Given the description of an element on the screen output the (x, y) to click on. 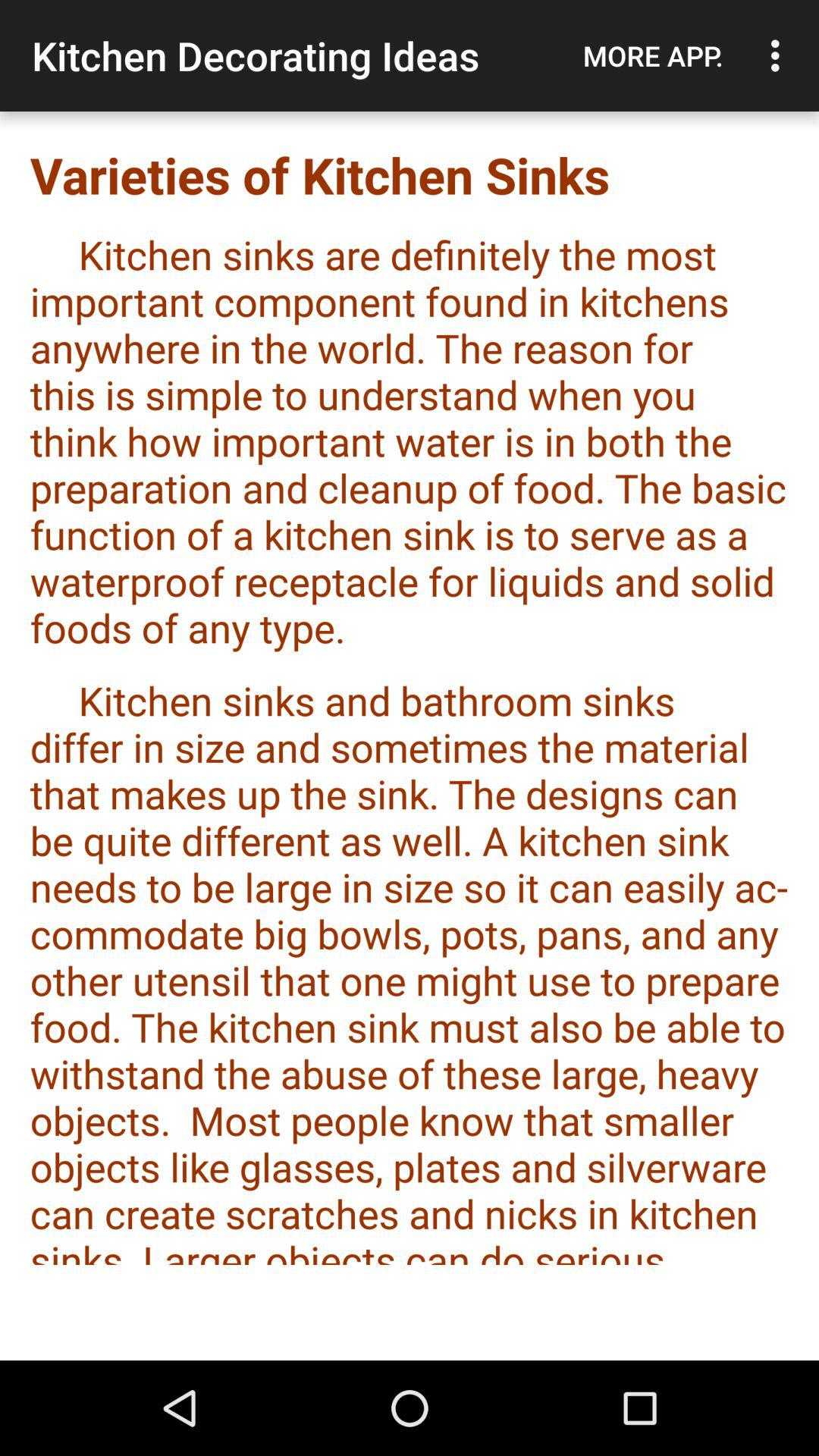
press the item next to more app. item (779, 55)
